Given the description of an element on the screen output the (x, y) to click on. 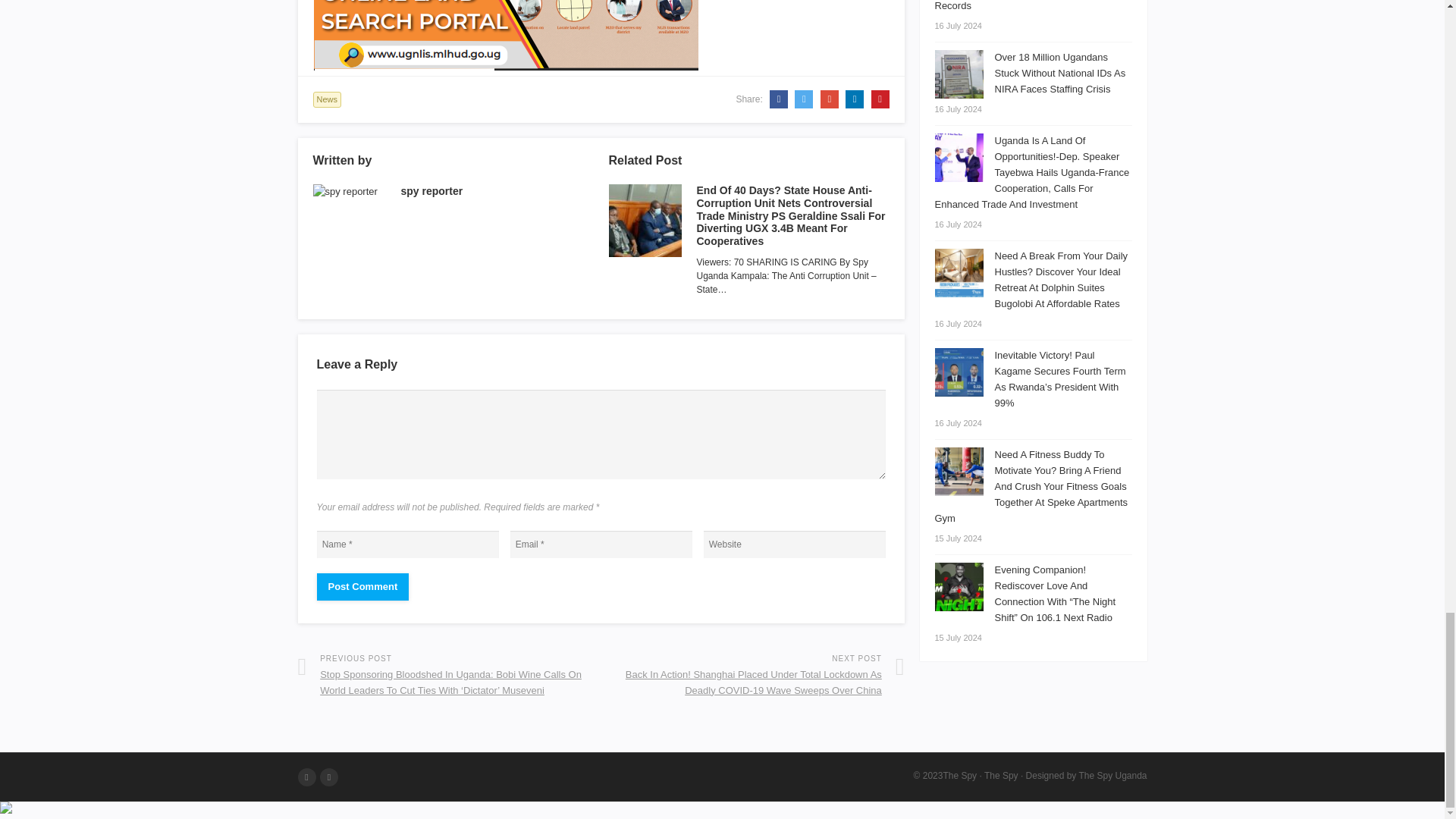
Post Comment (363, 586)
